Given the description of an element on the screen output the (x, y) to click on. 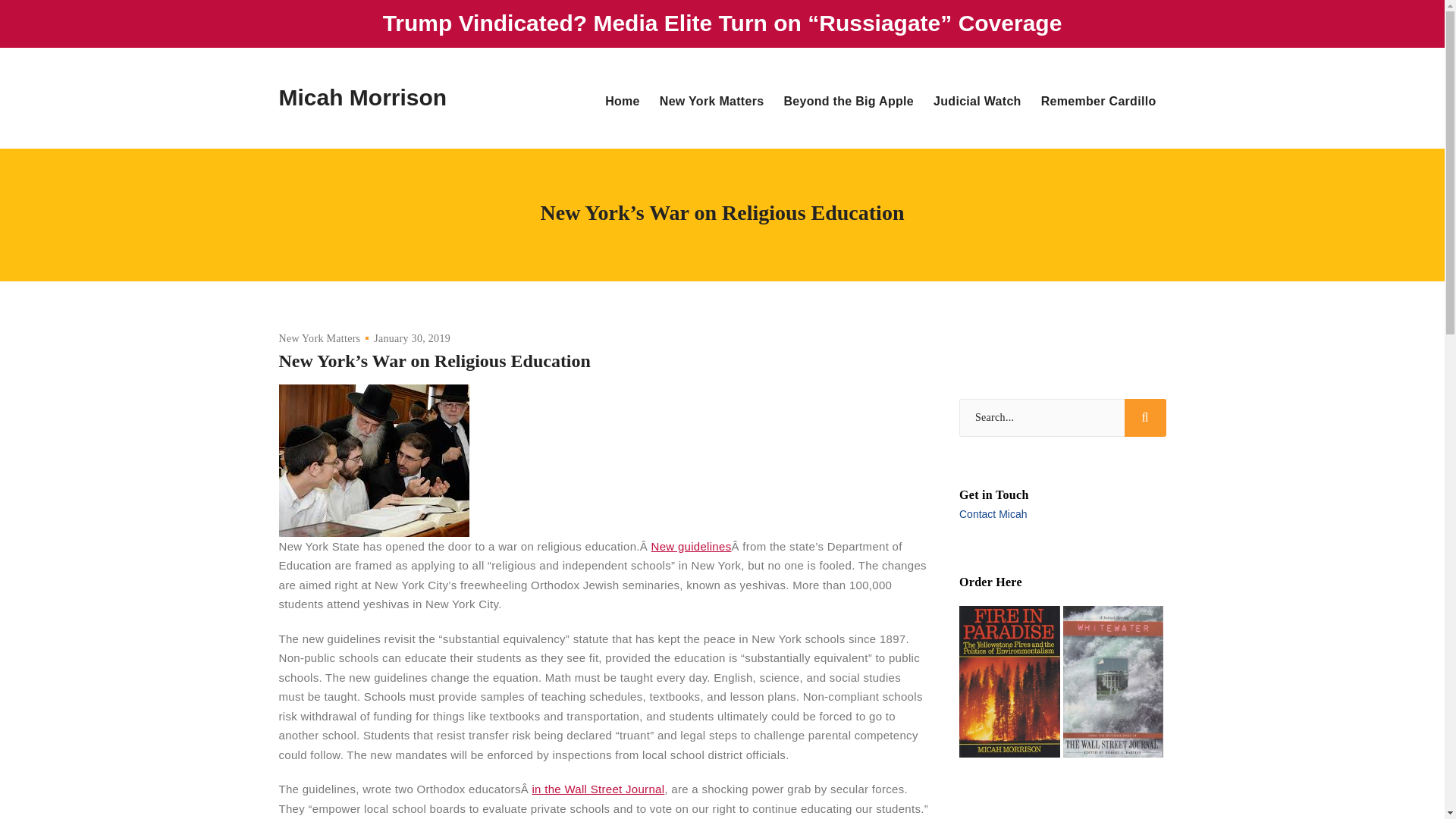
New guidelines (691, 545)
Judicial Watch (976, 101)
in the Wall Street Journal (597, 788)
Remember Cardillo (1098, 101)
Contact Micah (992, 513)
New York Matters (320, 337)
Home (627, 101)
Micah Morrison (362, 97)
New York Matters (711, 101)
Beyond the Big Apple (848, 101)
